Given the description of an element on the screen output the (x, y) to click on. 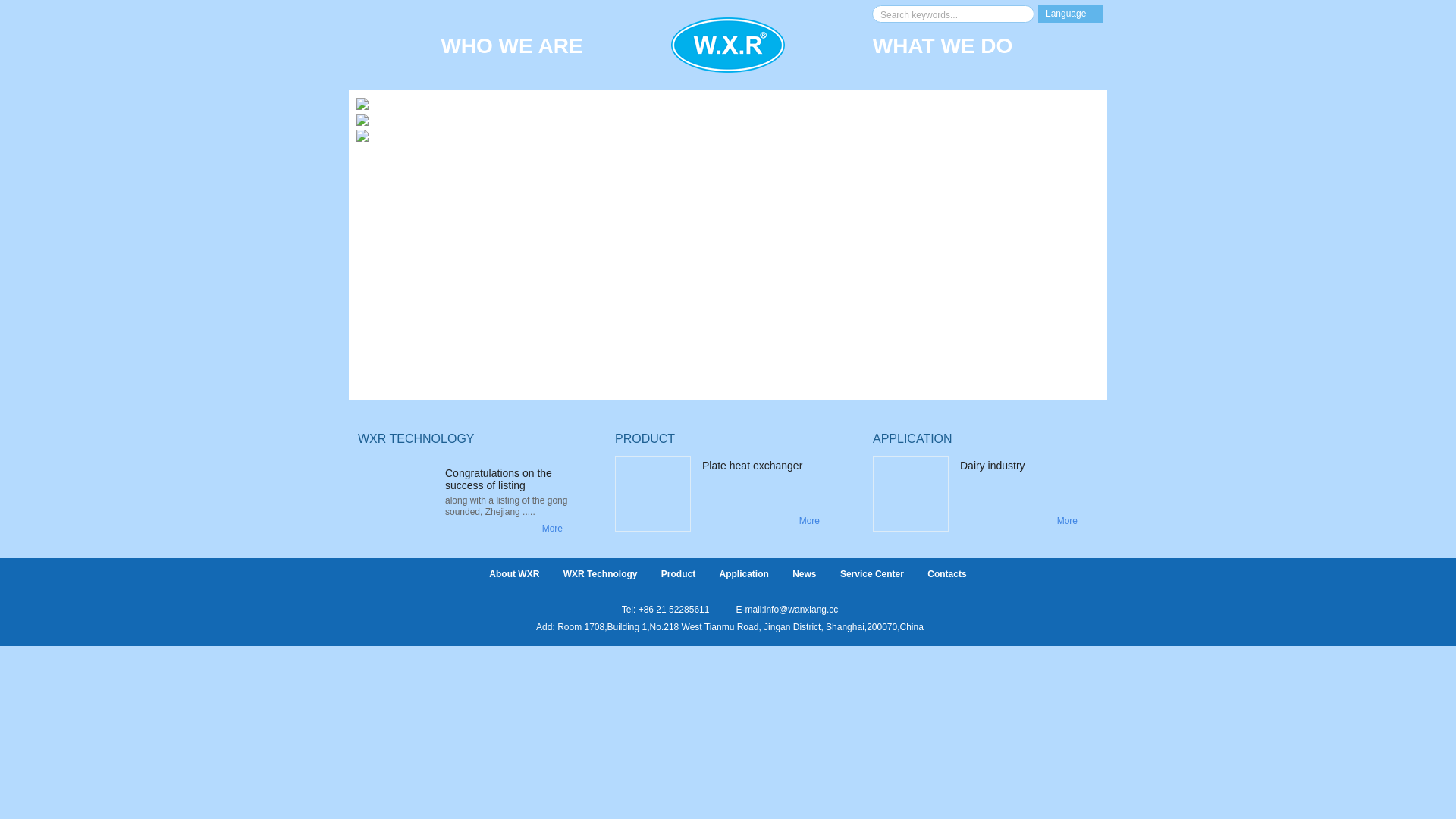
WHO WE ARE Element type: text (511, 51)
Contacts Element type: text (946, 574)
Product Element type: text (678, 574)
News Element type: text (803, 574)
info@wanxiang.cc Element type: text (801, 609)
APPLICATION Element type: text (912, 438)
Application Element type: text (743, 574)
PRODUCT Element type: text (644, 438)
About WXR Element type: text (513, 574)
Service Center Element type: text (871, 574)
WXR Technology Element type: text (600, 574)
WHAT WE DO Element type: text (942, 51)
WXR TECHNOLOGY Element type: text (415, 438)
